Given the description of an element on the screen output the (x, y) to click on. 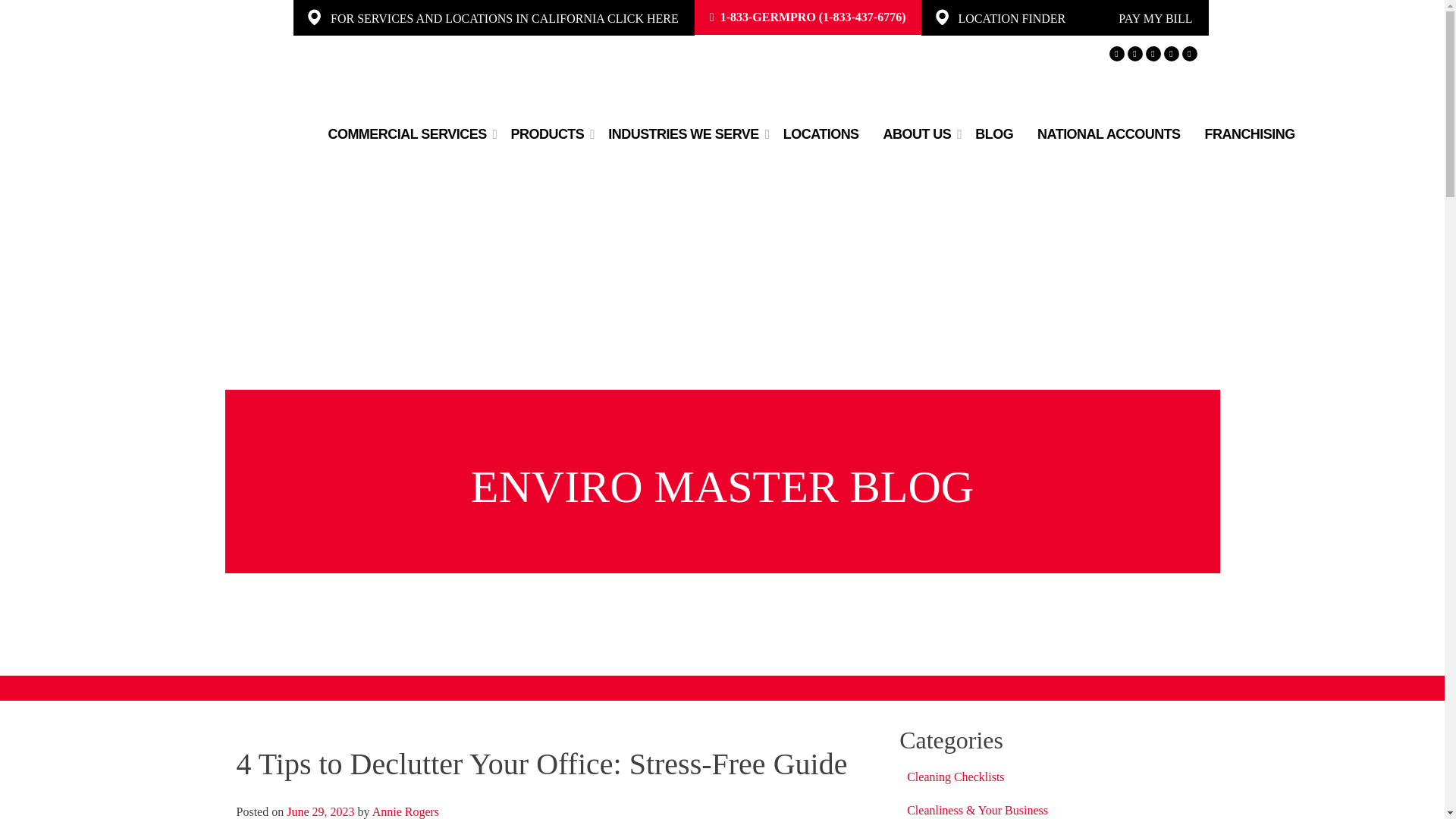
FOR SERVICES AND LOCATIONS IN CALIFORNIA CLICK HERE (504, 18)
PRODUCTS (547, 134)
LOCATION FINDER (1011, 18)
Products (547, 134)
Commercial Services (406, 134)
COMMERCIAL SERVICES (406, 134)
INDUSTRIES WE SERVE (682, 134)
PAY MY BILL (1155, 18)
